Given the description of an element on the screen output the (x, y) to click on. 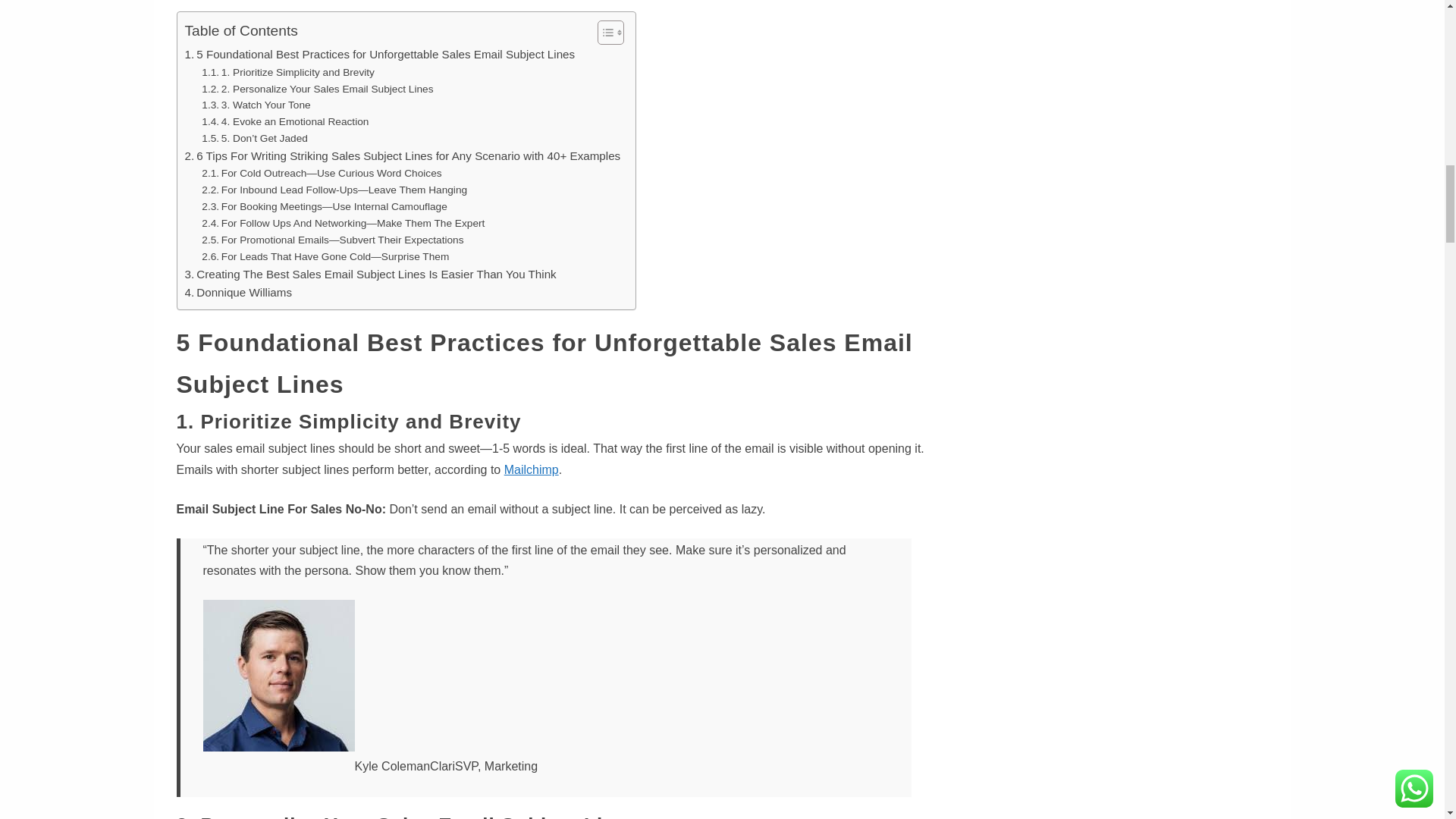
4. Evoke an Emotional Reaction (285, 121)
3. Watch Your Tone (256, 105)
2. Personalize Your Sales Email Subject Lines (317, 89)
1. Prioritize Simplicity and Brevity (288, 72)
